Given the description of an element on the screen output the (x, y) to click on. 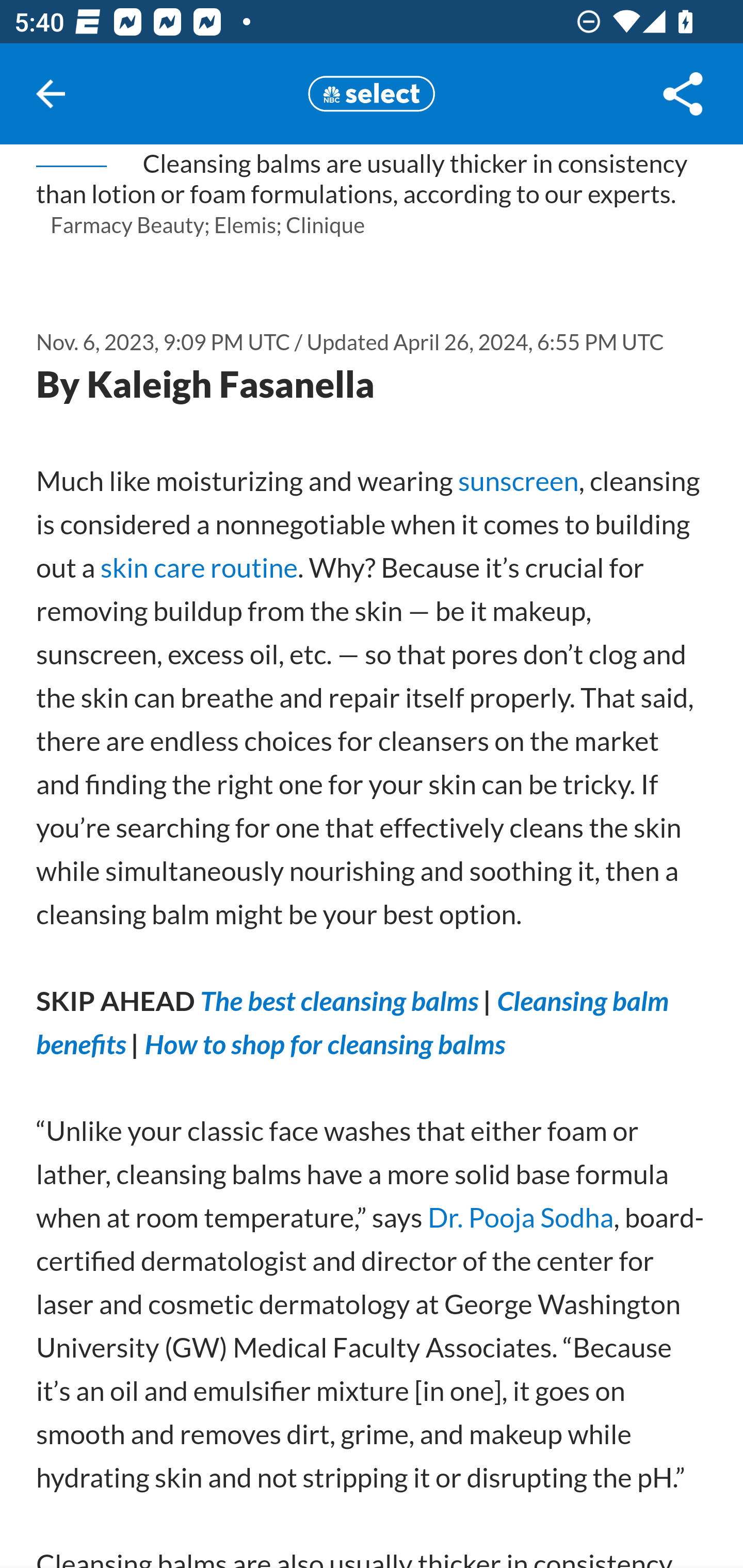
Navigate up (50, 93)
Share Article, button (683, 94)
Header, Select (371, 93)
sunscreen (517, 482)
skin care routine (198, 568)
Cleansing balm benefits (352, 1022)
The best cleansing balms (339, 1000)
How to shop for cleansing balms (324, 1044)
Dr. Pooja Sodha (519, 1217)
